Given the description of an element on the screen output the (x, y) to click on. 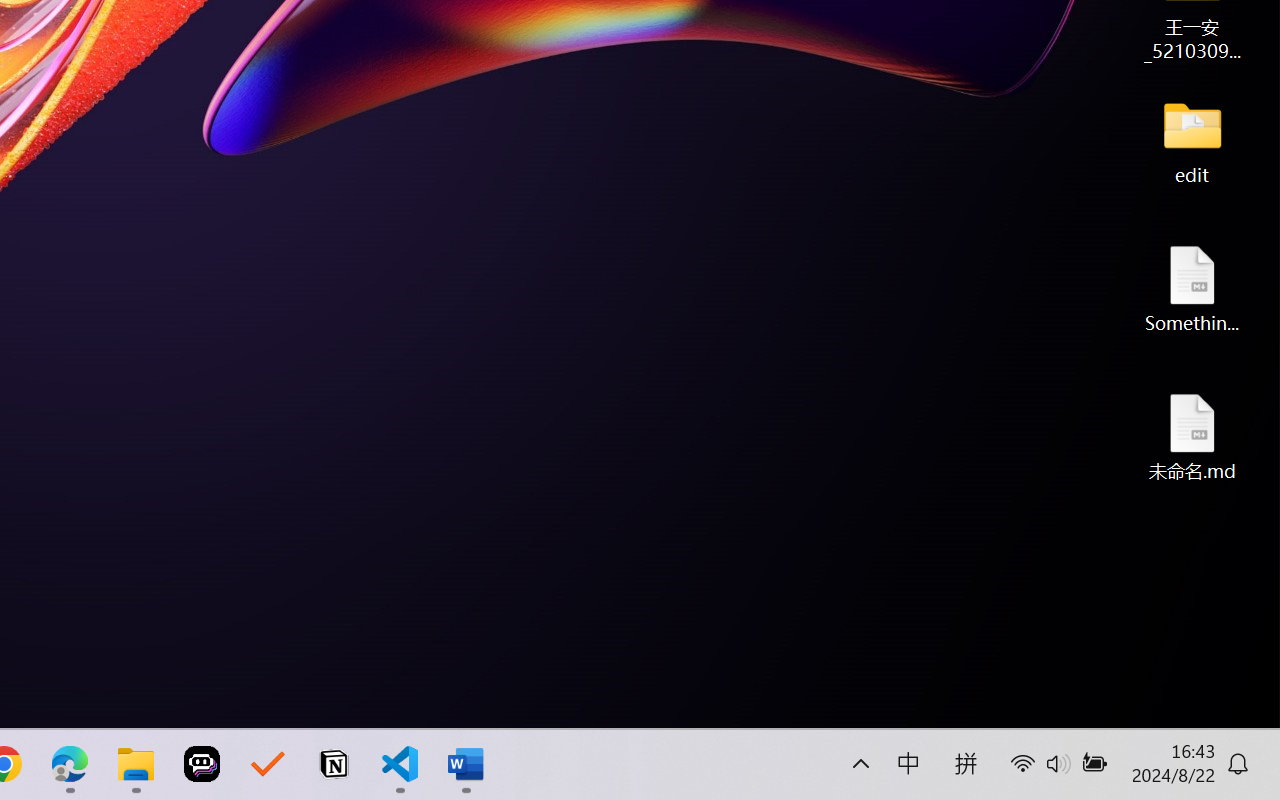
Something.md (1192, 288)
edit (1192, 140)
